Given the description of an element on the screen output the (x, y) to click on. 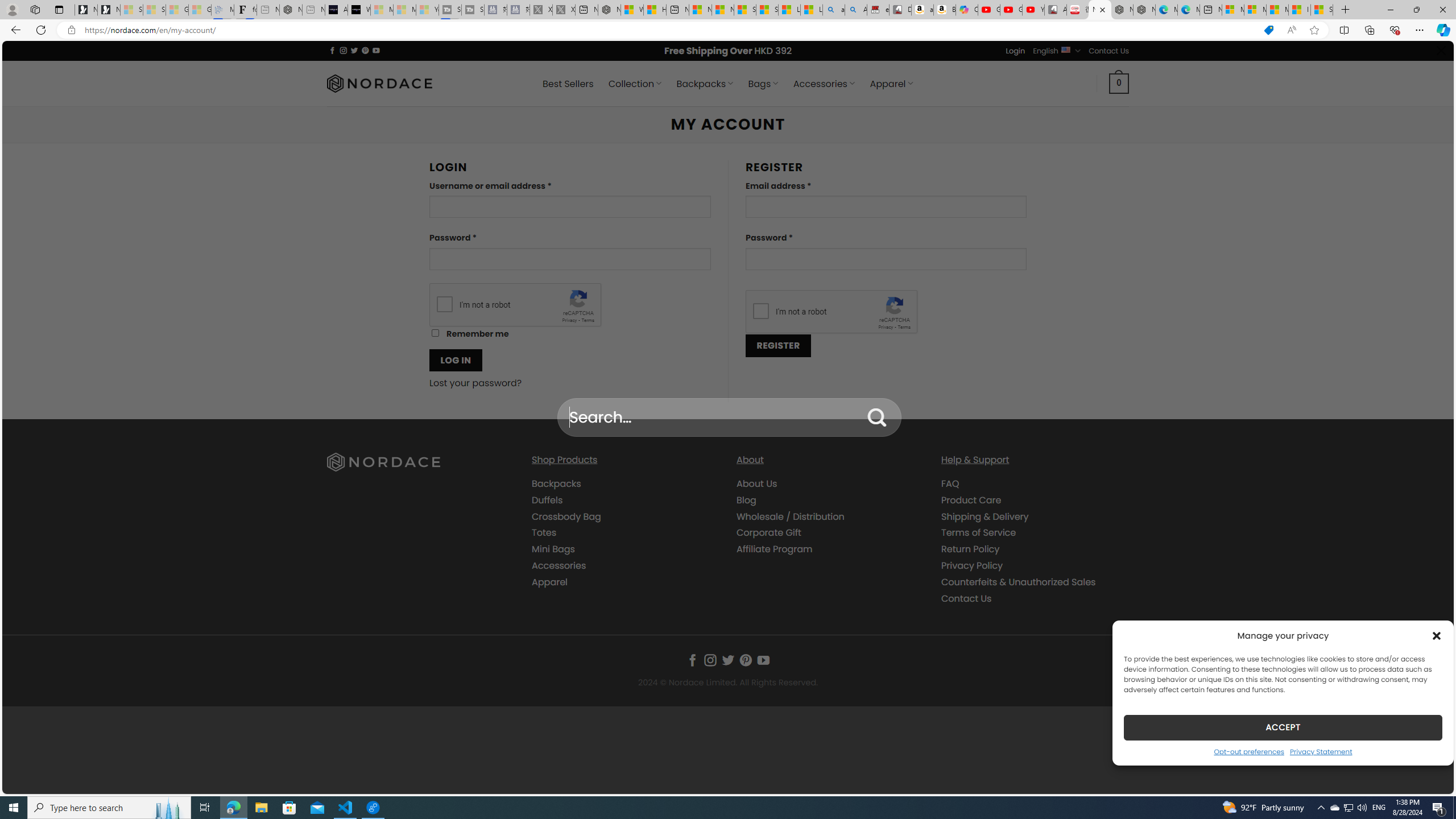
FAQ (1034, 483)
Return Policy (1034, 549)
Privacy Policy (1034, 565)
Microsoft Start - Sleeping (404, 9)
Backpacks (555, 483)
Crossbody Bag (625, 516)
Counterfeits & Unauthorized Sales (1018, 581)
Affiliate Program (830, 549)
I'm not a robot (760, 310)
Blog (830, 499)
